Given the description of an element on the screen output the (x, y) to click on. 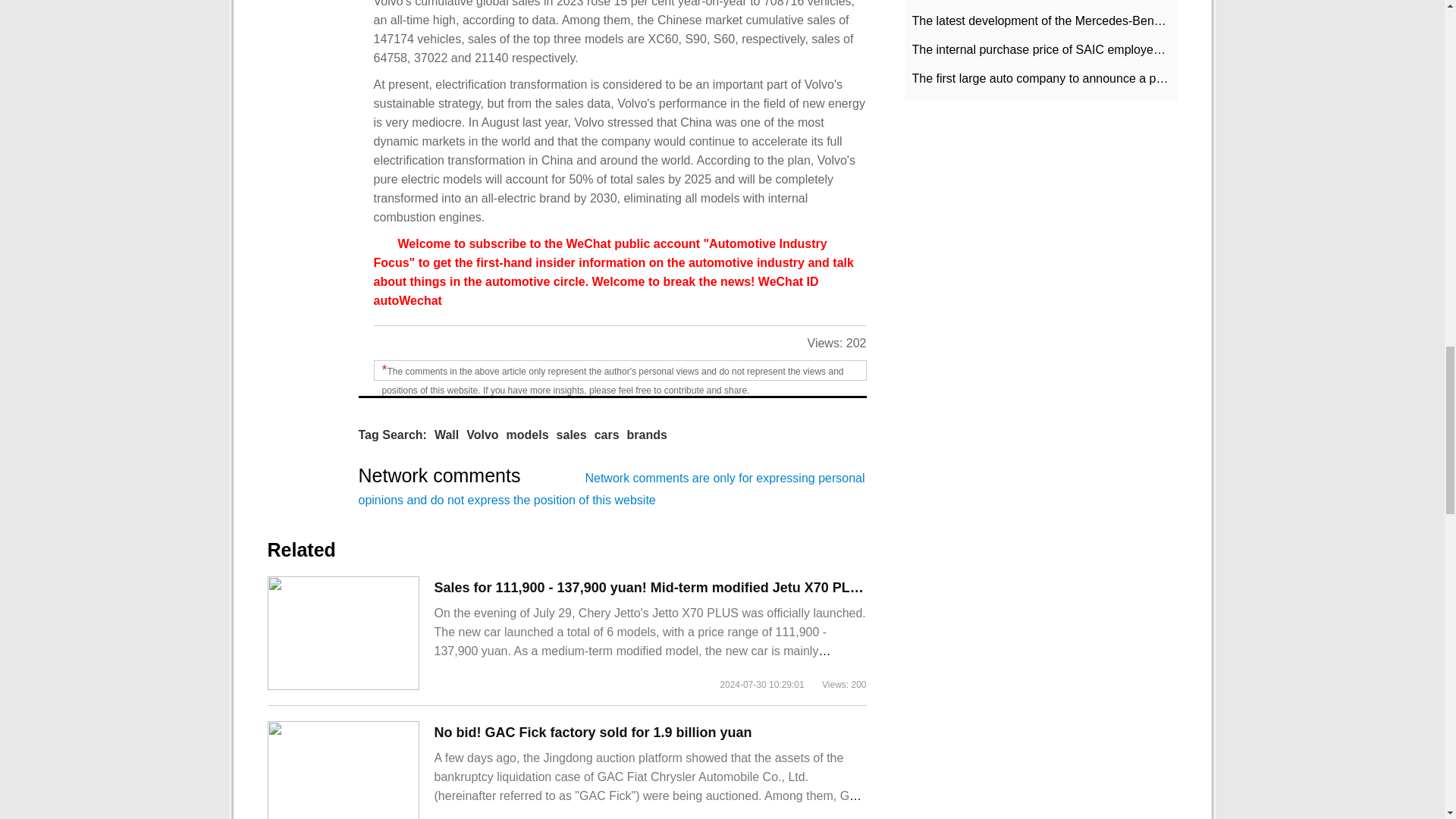
Wall (445, 435)
sales (571, 435)
Volvo (481, 435)
Tag Search: (392, 435)
cars (607, 435)
models (527, 435)
